Given the description of an element on the screen output the (x, y) to click on. 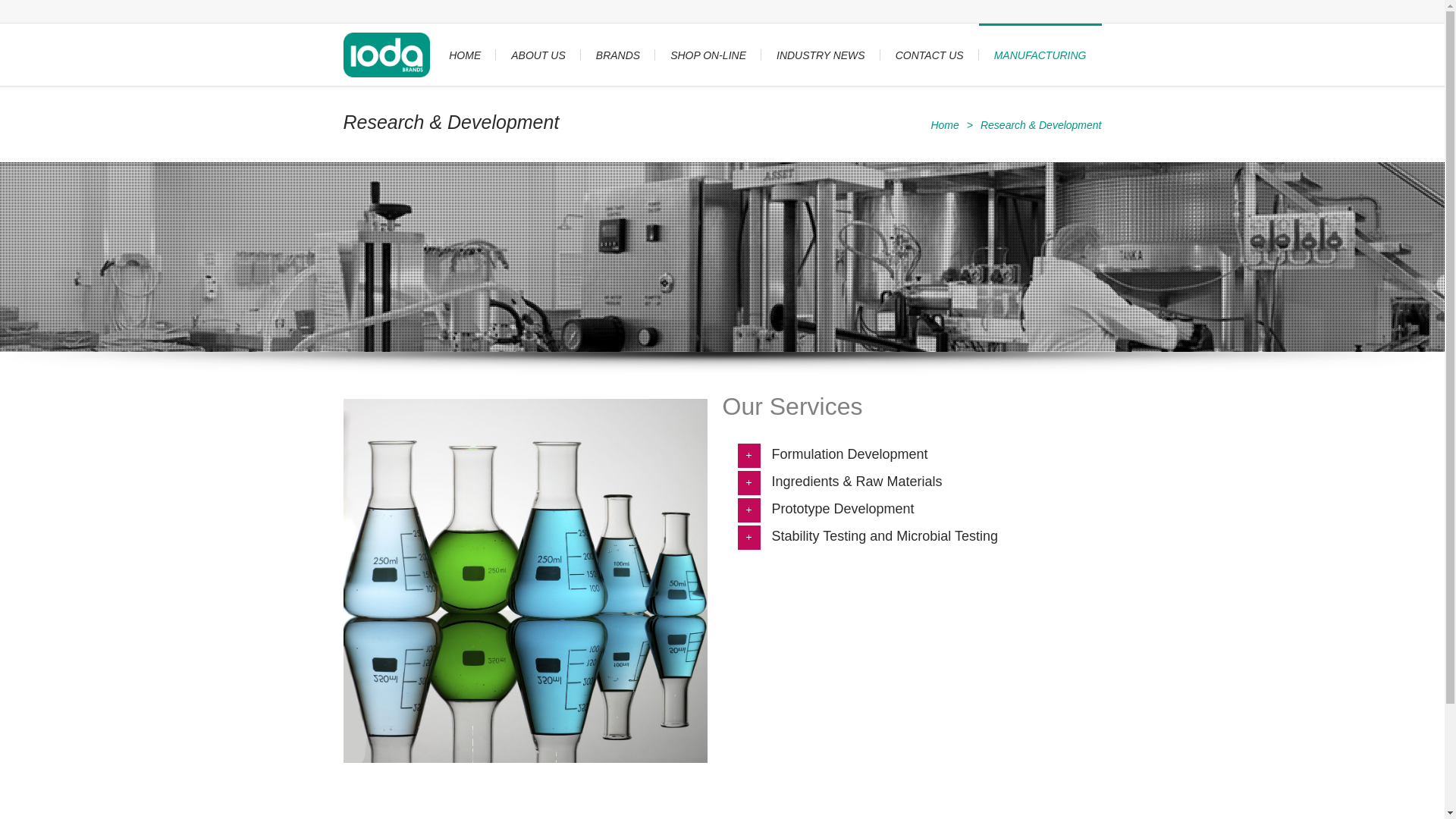
MANUFACTURING Element type: text (1040, 54)
Home Element type: text (944, 125)
HOME Element type: text (464, 54)
BRANDS Element type: text (617, 54)
SHOP ON-LINE Element type: text (708, 54)
INDUSTRY NEWS Element type: text (820, 54)
ABOUT US Element type: text (537, 54)
CONTACT US Element type: text (929, 54)
